Given the description of an element on the screen output the (x, y) to click on. 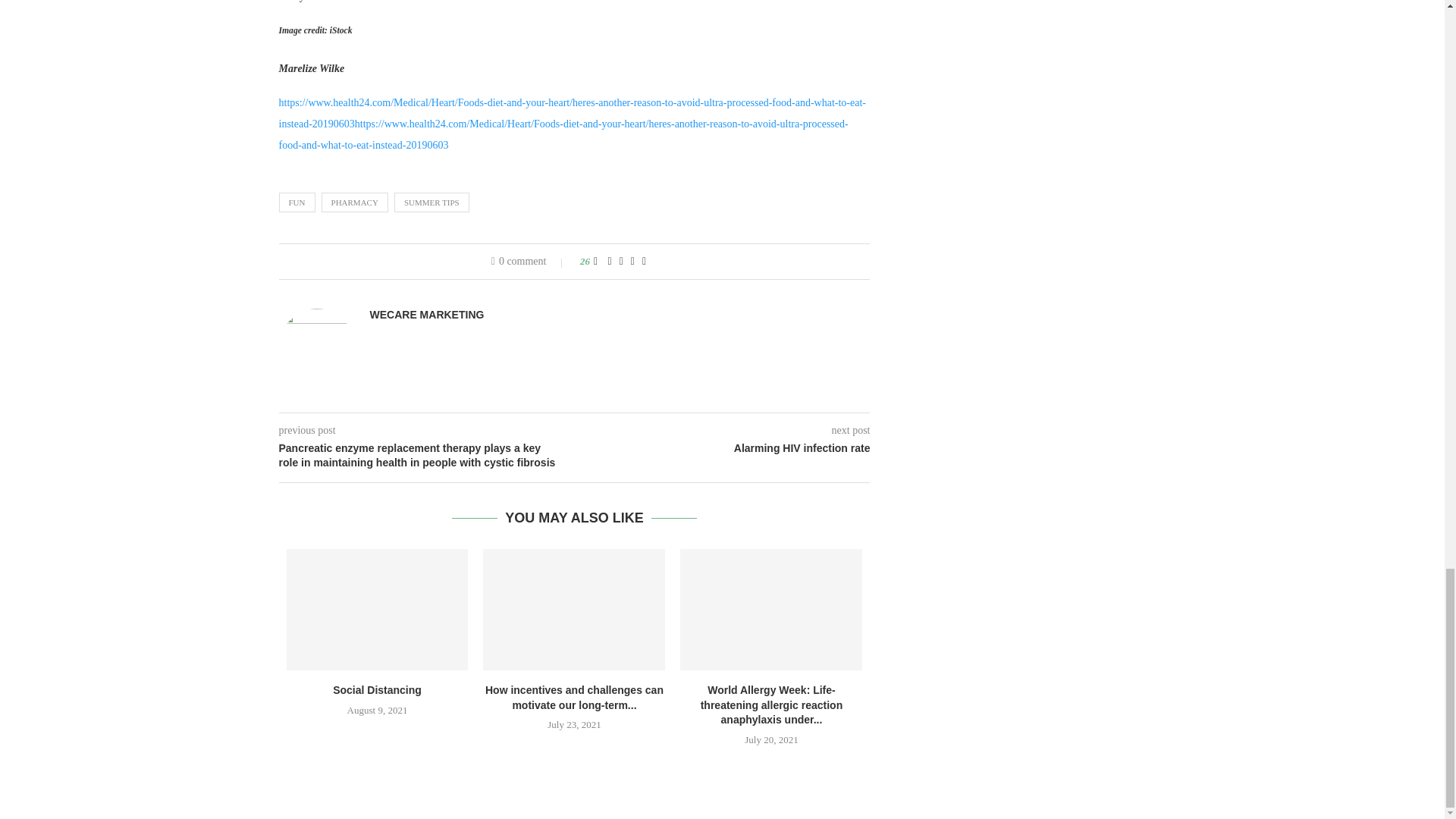
Author WeCare Marketing (426, 314)
Social Distancing (377, 609)
